Given the description of an element on the screen output the (x, y) to click on. 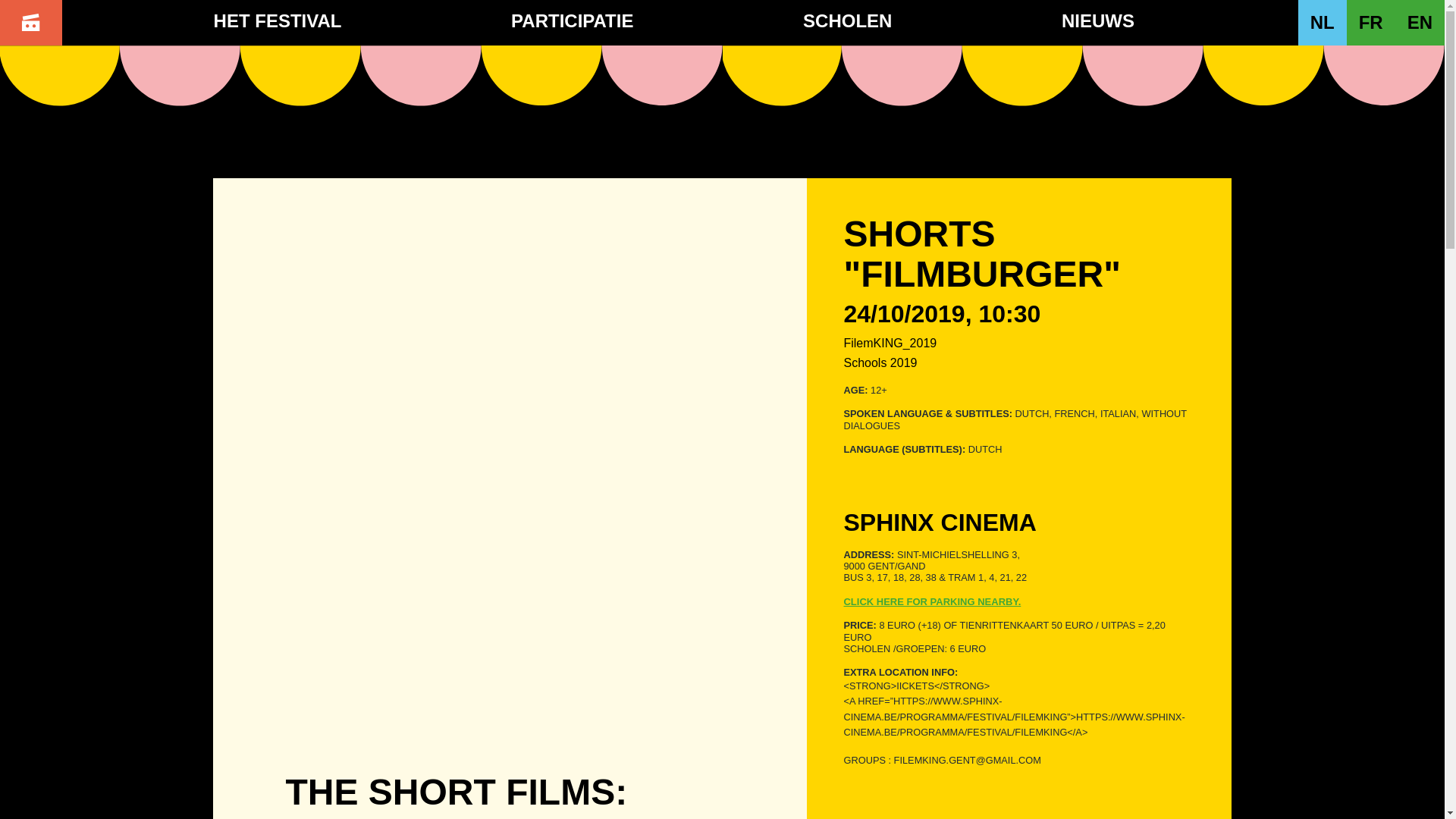
CLICK HERE FOR PARKING NEARBY. (1019, 602)
HET FESTIVAL (277, 21)
NL (1322, 22)
NIEUWS (1098, 21)
PARTICIPATIE (571, 21)
SCHOLEN (847, 21)
FR (1370, 22)
